Given the description of an element on the screen output the (x, y) to click on. 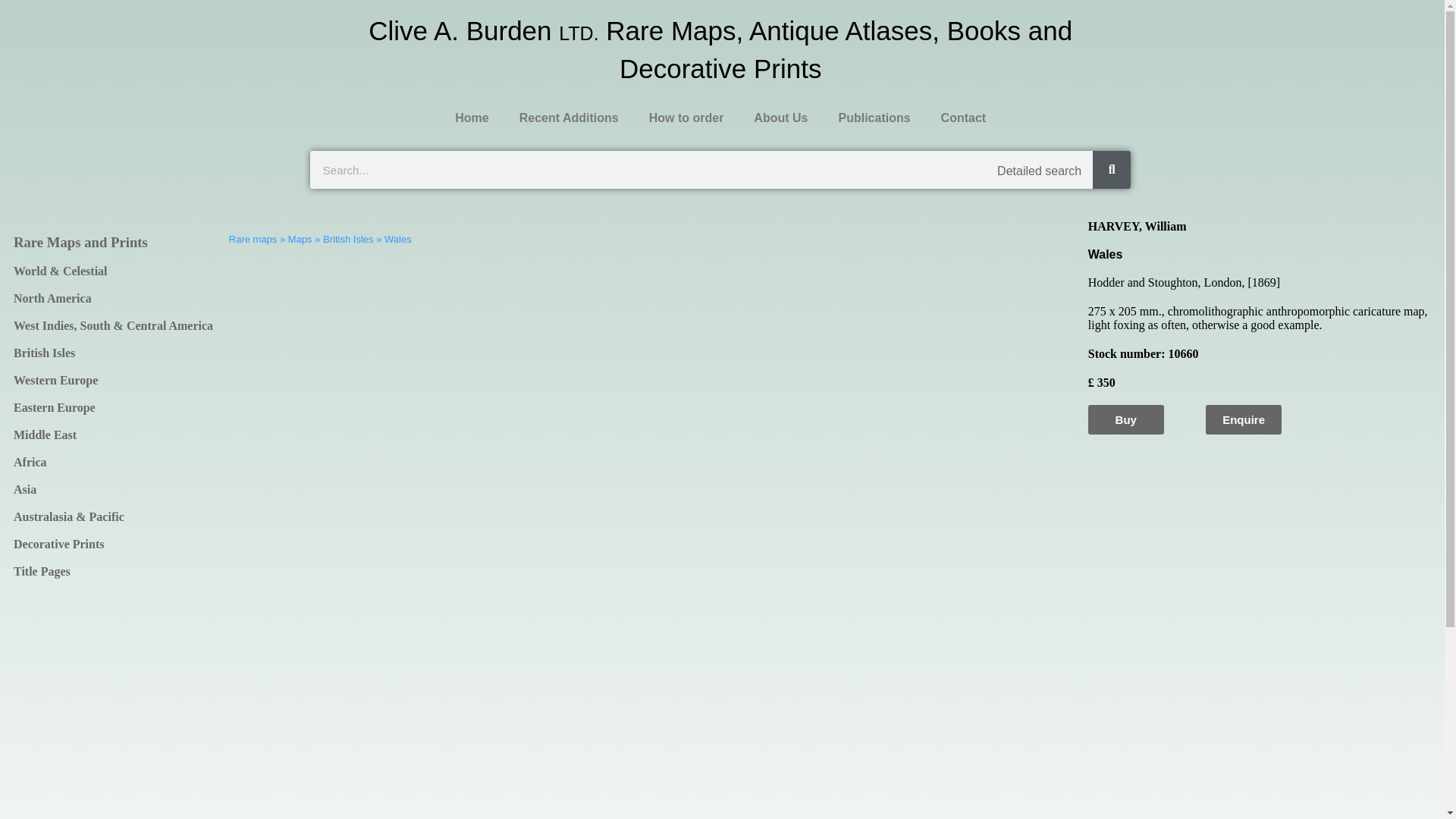
How to order (686, 117)
British Isles (113, 353)
Detailed search (1039, 170)
Publications (873, 117)
Recent Additions (568, 117)
Contact (963, 117)
Home (471, 117)
North America (113, 298)
About Us (780, 117)
